Given the description of an element on the screen output the (x, y) to click on. 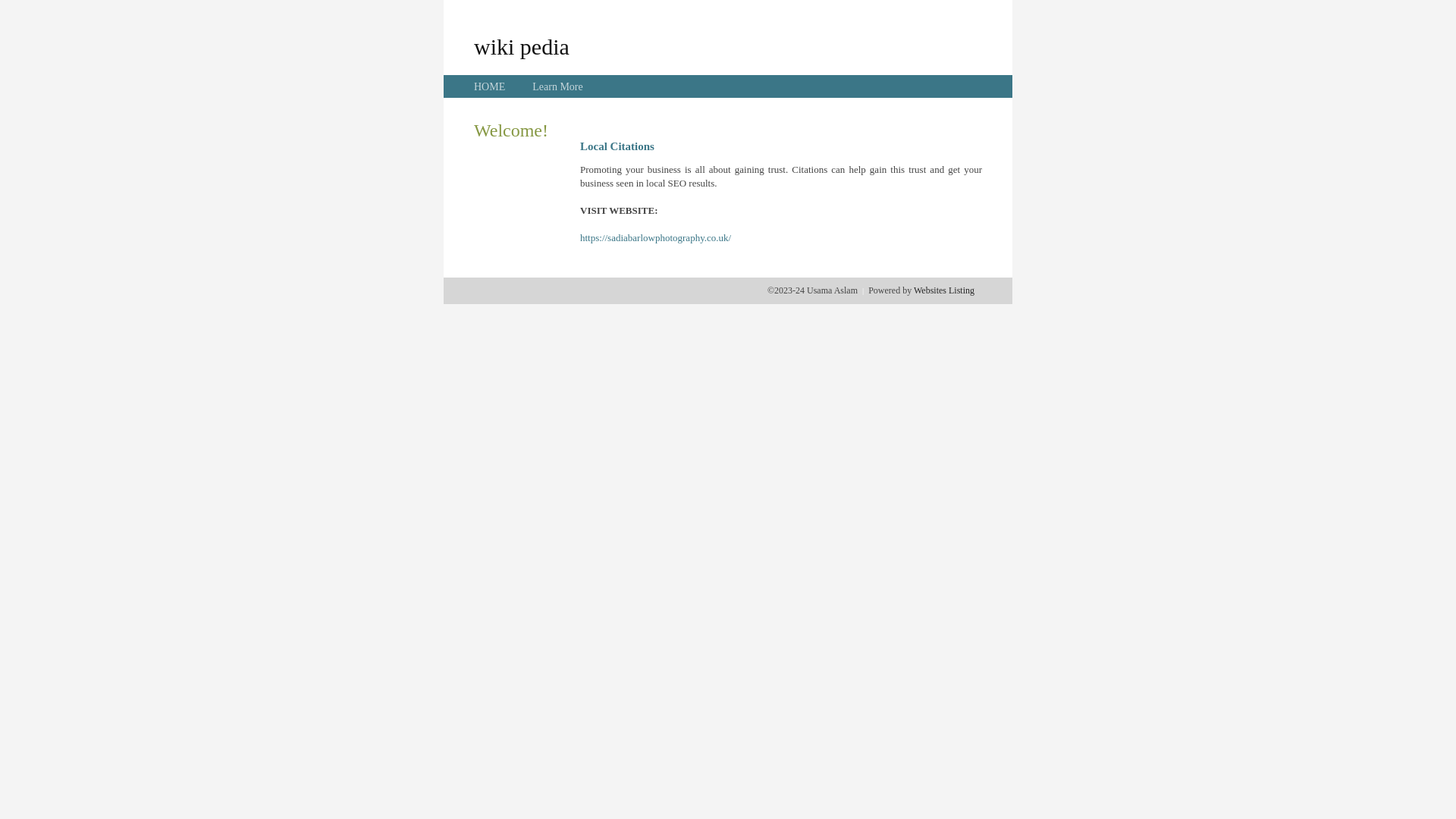
Learn More Element type: text (557, 86)
https://sadiabarlowphotography.co.uk/ Element type: text (655, 237)
Websites Listing Element type: text (943, 290)
wiki pedia Element type: text (521, 46)
HOME Element type: text (489, 86)
